Given the description of an element on the screen output the (x, y) to click on. 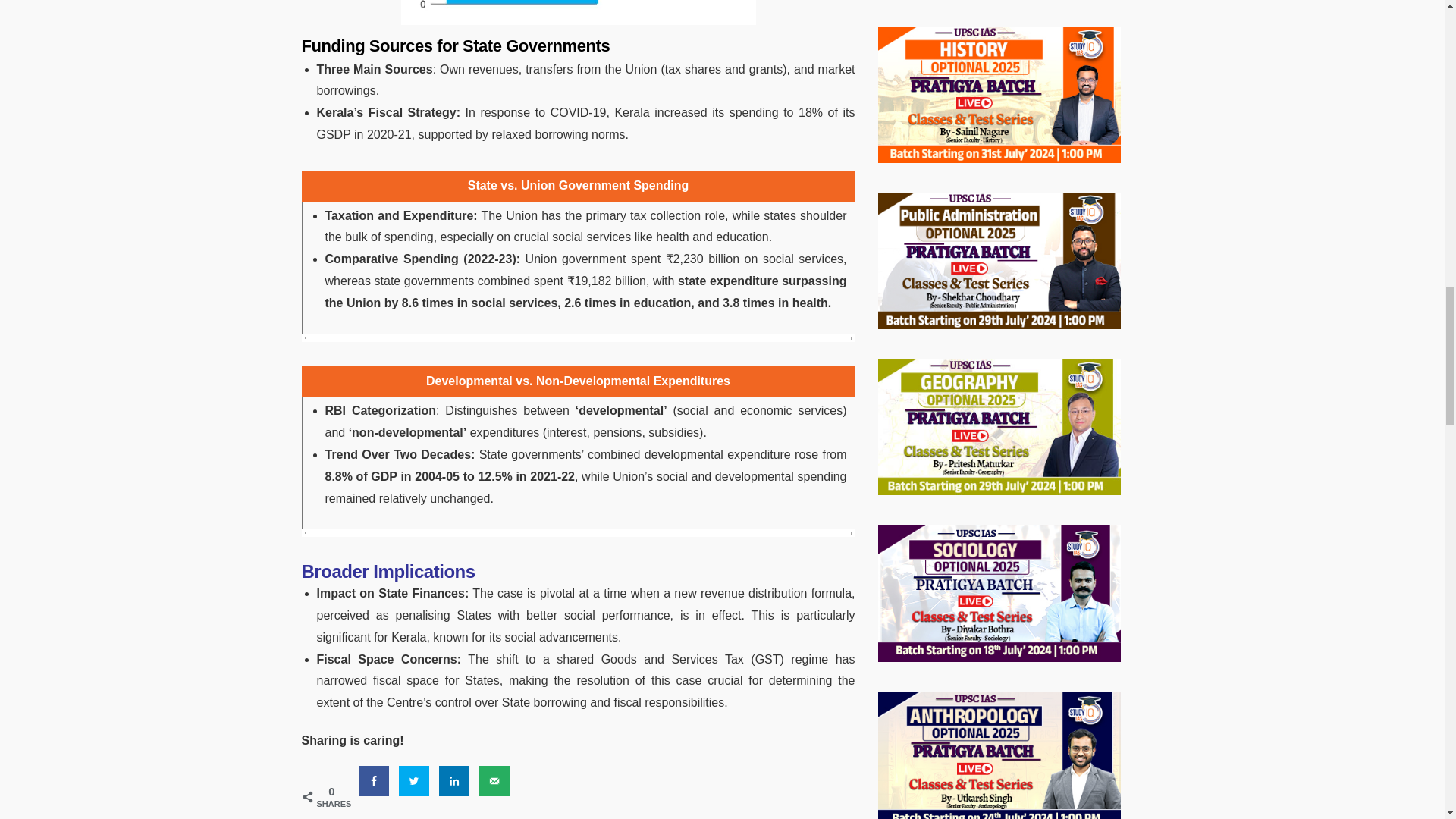
Share on Facebook (373, 780)
Send over email (494, 780)
Share on Twitter (413, 780)
Share on LinkedIn (453, 780)
